Given the description of an element on the screen output the (x, y) to click on. 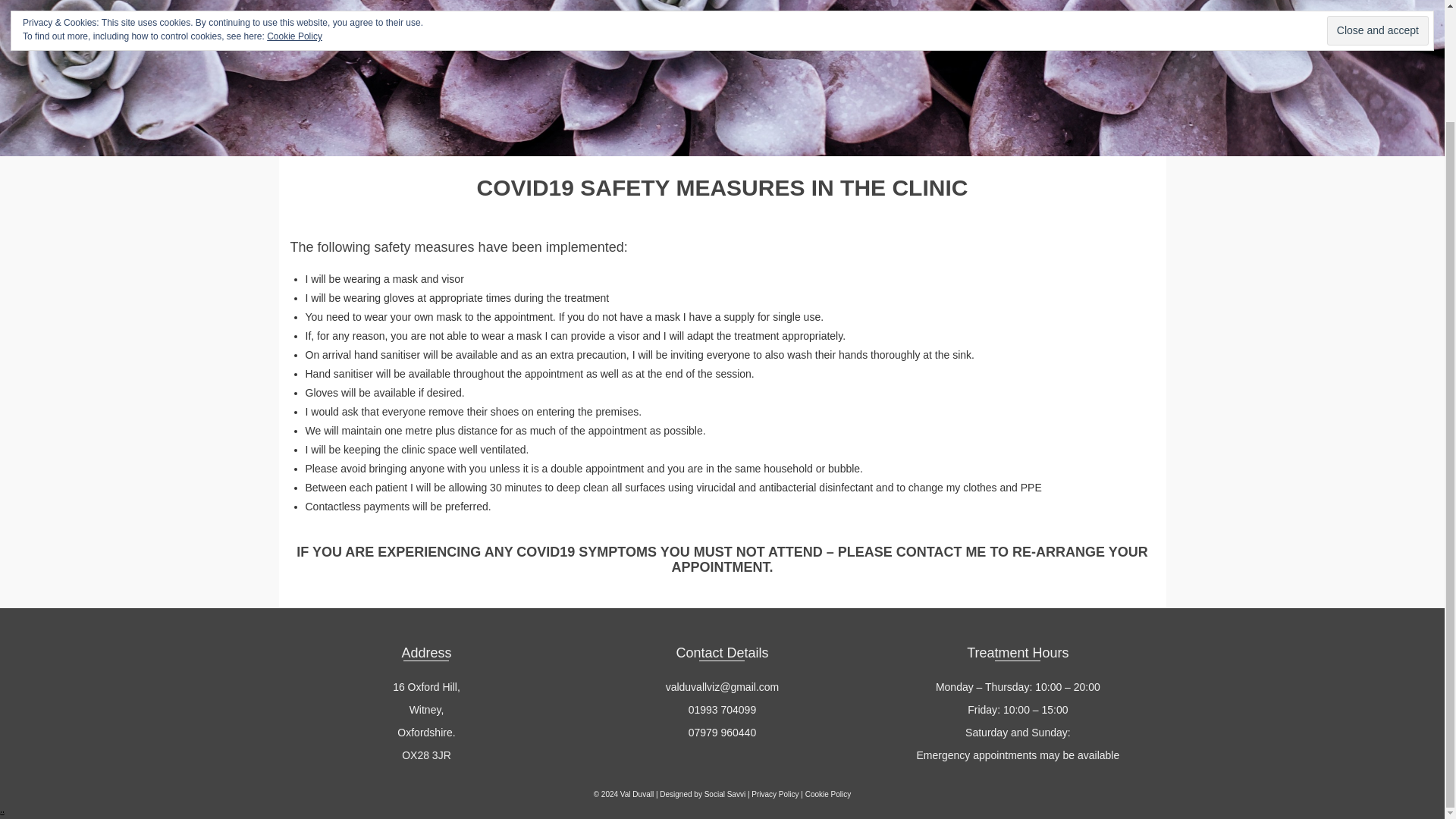
Cookie Policy (828, 794)
Social Savvi (724, 794)
Privacy Policy (774, 794)
